Given the description of an element on the screen output the (x, y) to click on. 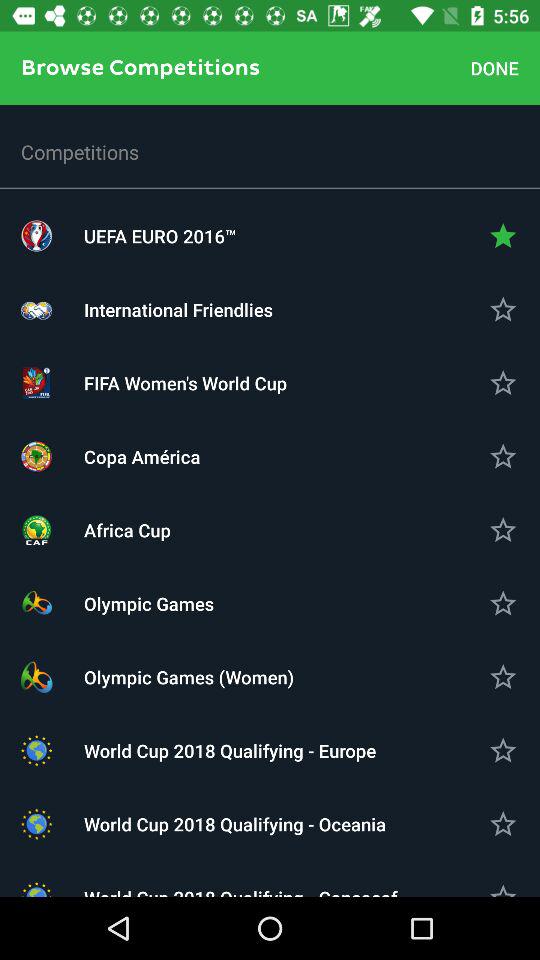
turn on the icon below international friendlies item (270, 382)
